Given the description of an element on the screen output the (x, y) to click on. 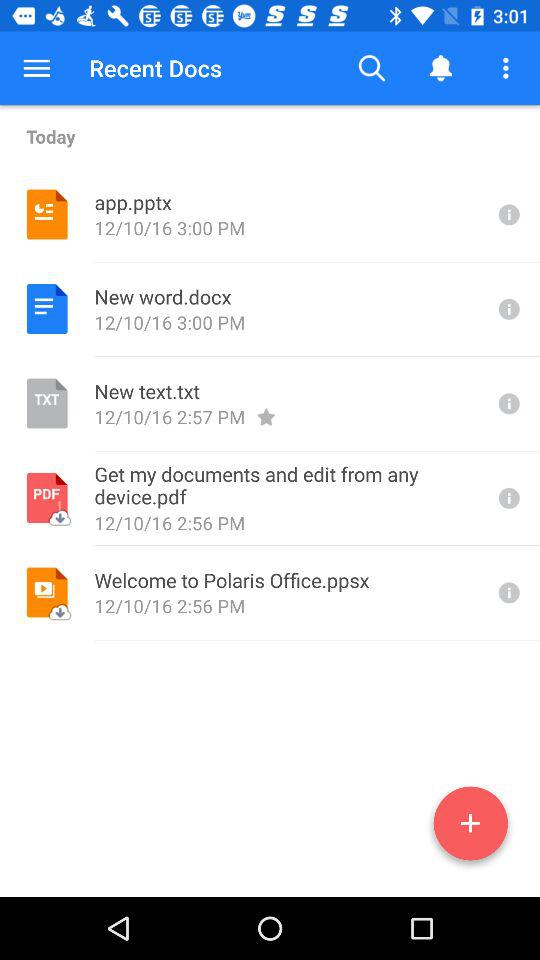
turn off the item next to recent docs item (36, 68)
